Given the description of an element on the screen output the (x, y) to click on. 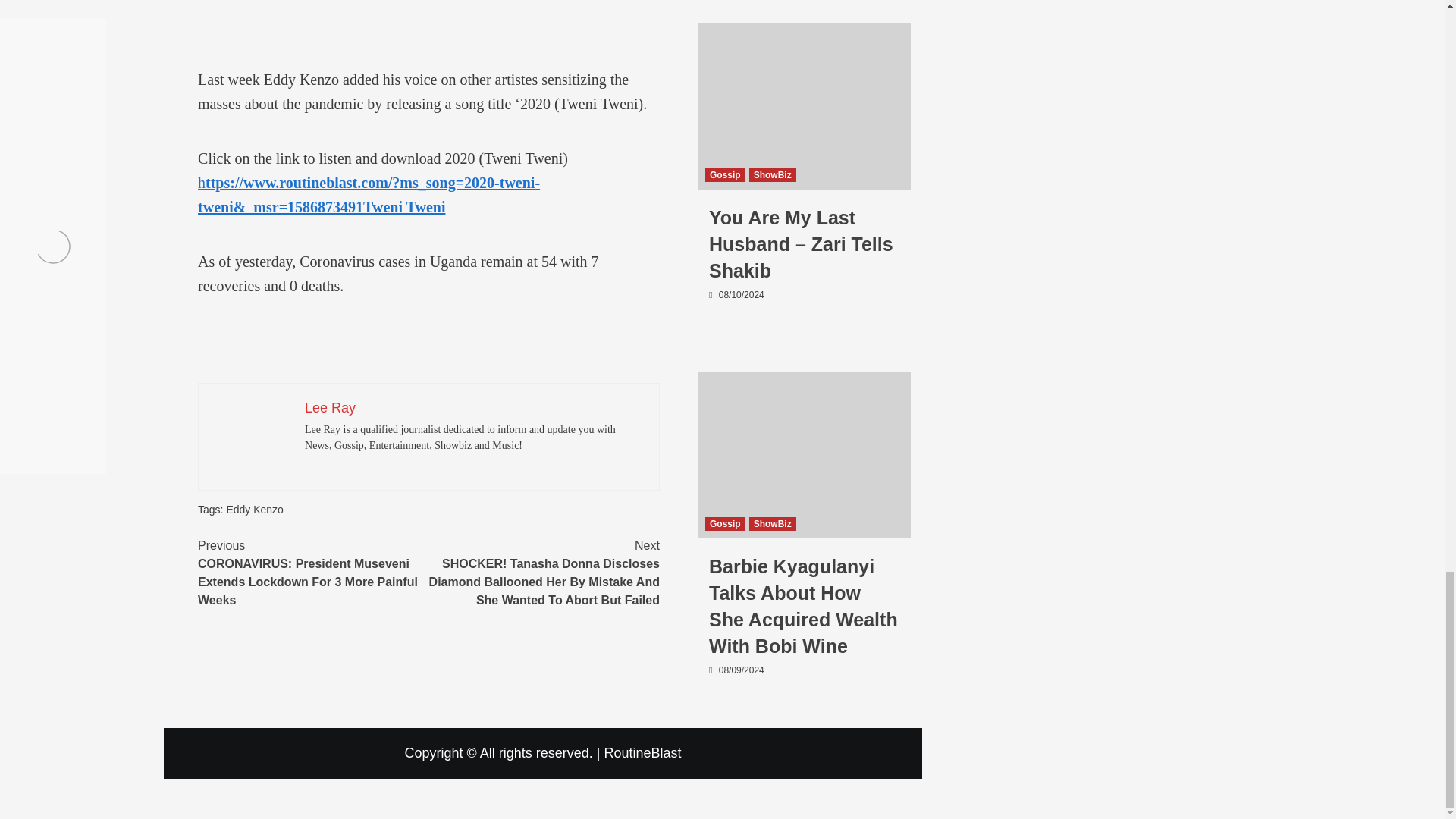
Lee Ray (329, 407)
Eddy Kenzo (254, 509)
